Given the description of an element on the screen output the (x, y) to click on. 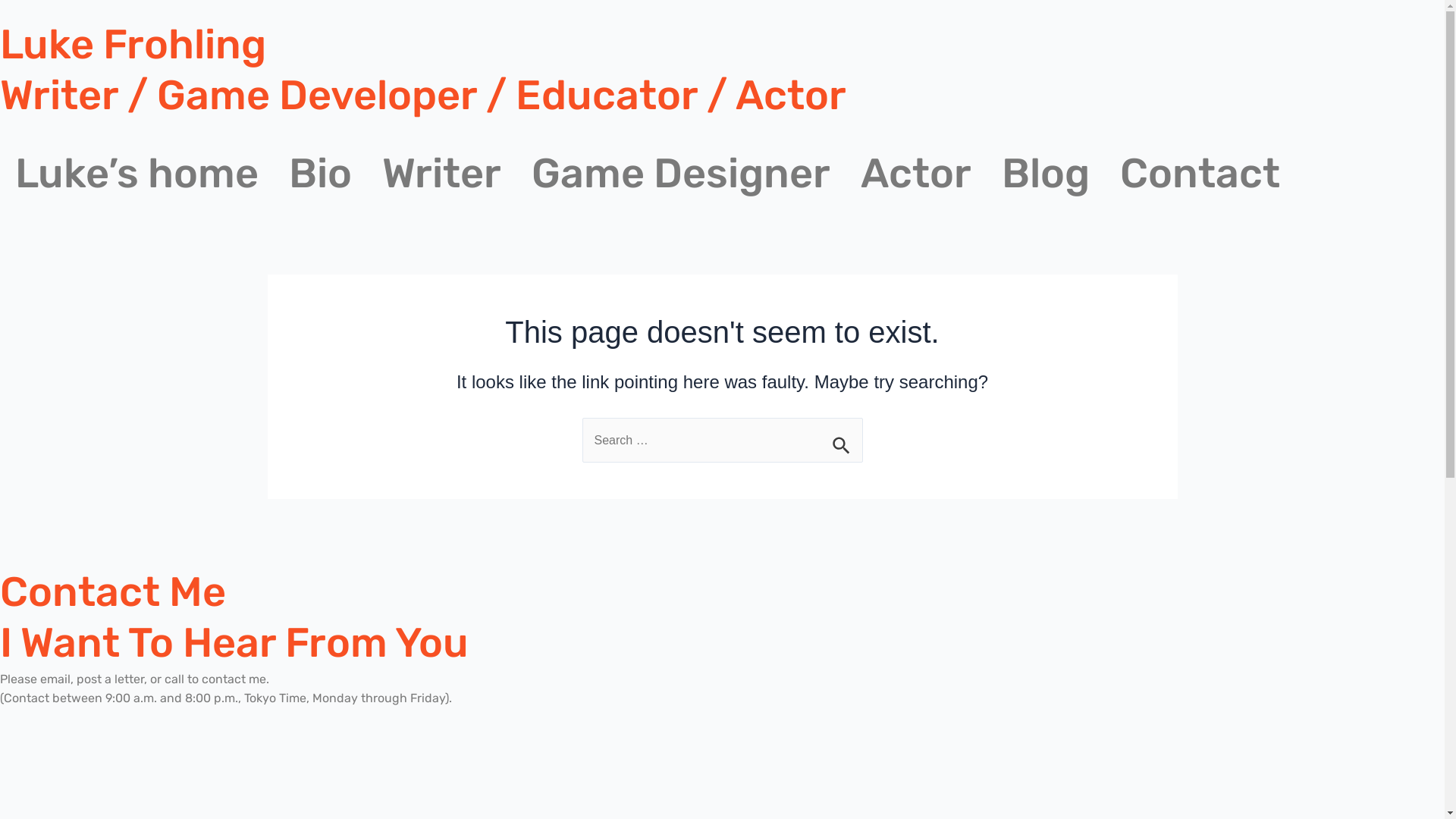
Search Element type: text (845, 436)
Blog Element type: text (1045, 173)
Bio Element type: text (320, 173)
Game Designer Element type: text (680, 173)
Luke Frohling Element type: text (133, 44)
Contact Element type: text (1199, 173)
Actor Element type: text (915, 173)
Writer Element type: text (441, 173)
